Given the description of an element on the screen output the (x, y) to click on. 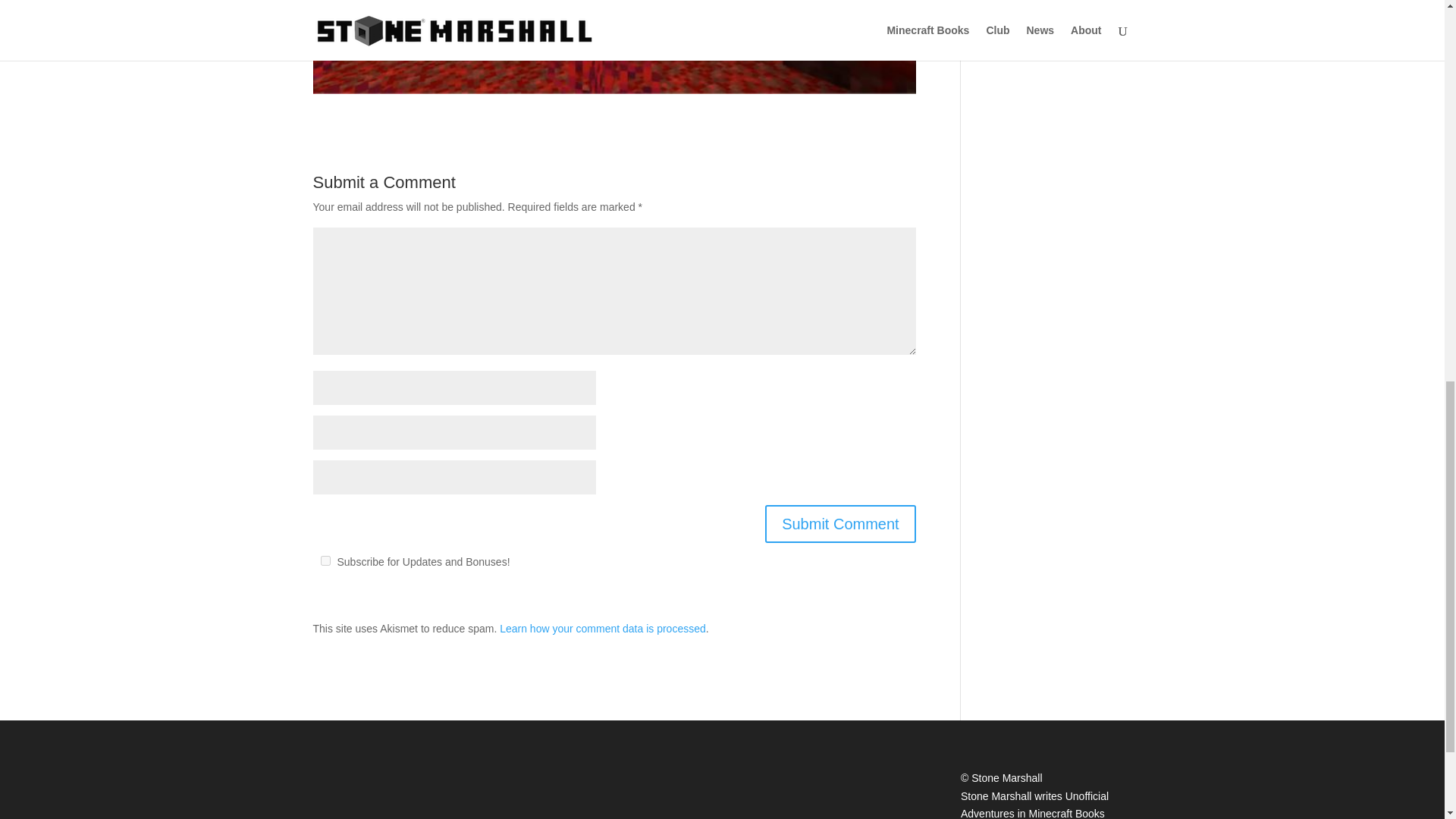
Learn how your comment data is processed (602, 628)
Submit Comment (840, 523)
Submit Comment (840, 523)
1 (324, 560)
